Given the description of an element on the screen output the (x, y) to click on. 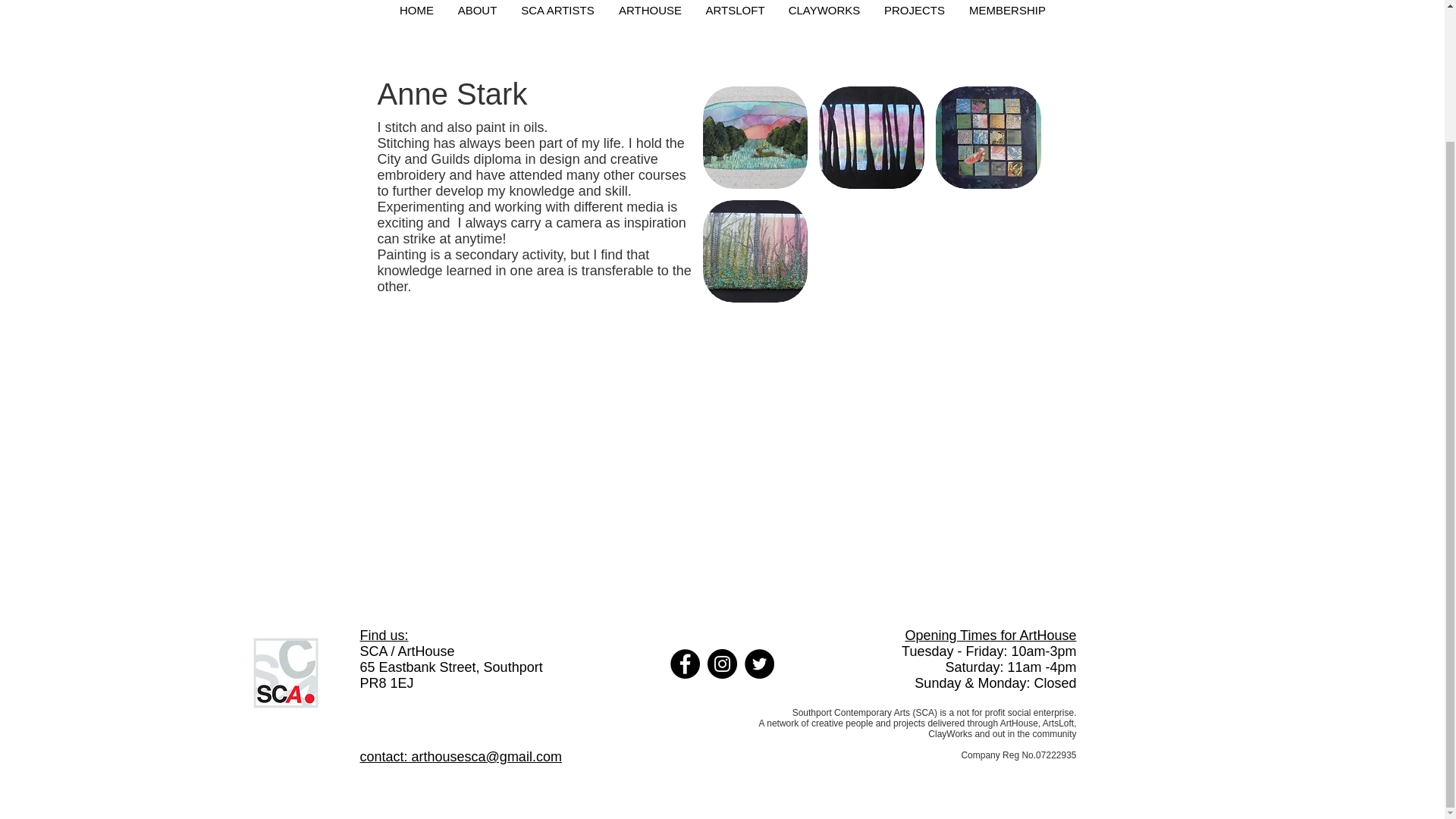
MEMBERSHIP (1007, 14)
ABOUT (476, 14)
PROJECTS (914, 14)
CLAYWORKS (824, 14)
ARTHOUSE (650, 14)
SCA ARTISTS (556, 14)
HOME (416, 14)
ARTSLOFT (734, 14)
